Given the description of an element on the screen output the (x, y) to click on. 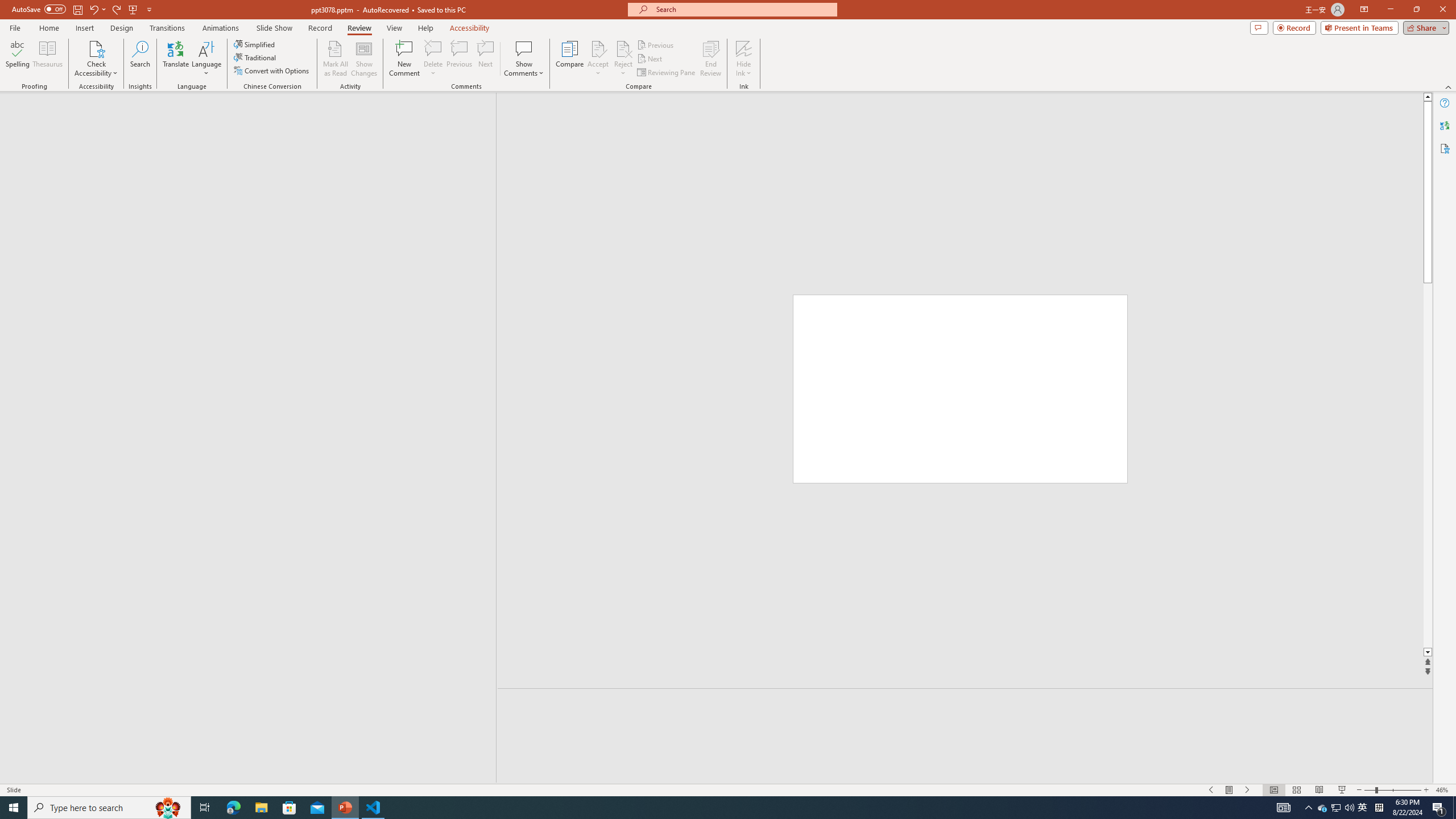
Translate (175, 58)
Reject Change (622, 48)
Previous (655, 44)
